Given the description of an element on the screen output the (x, y) to click on. 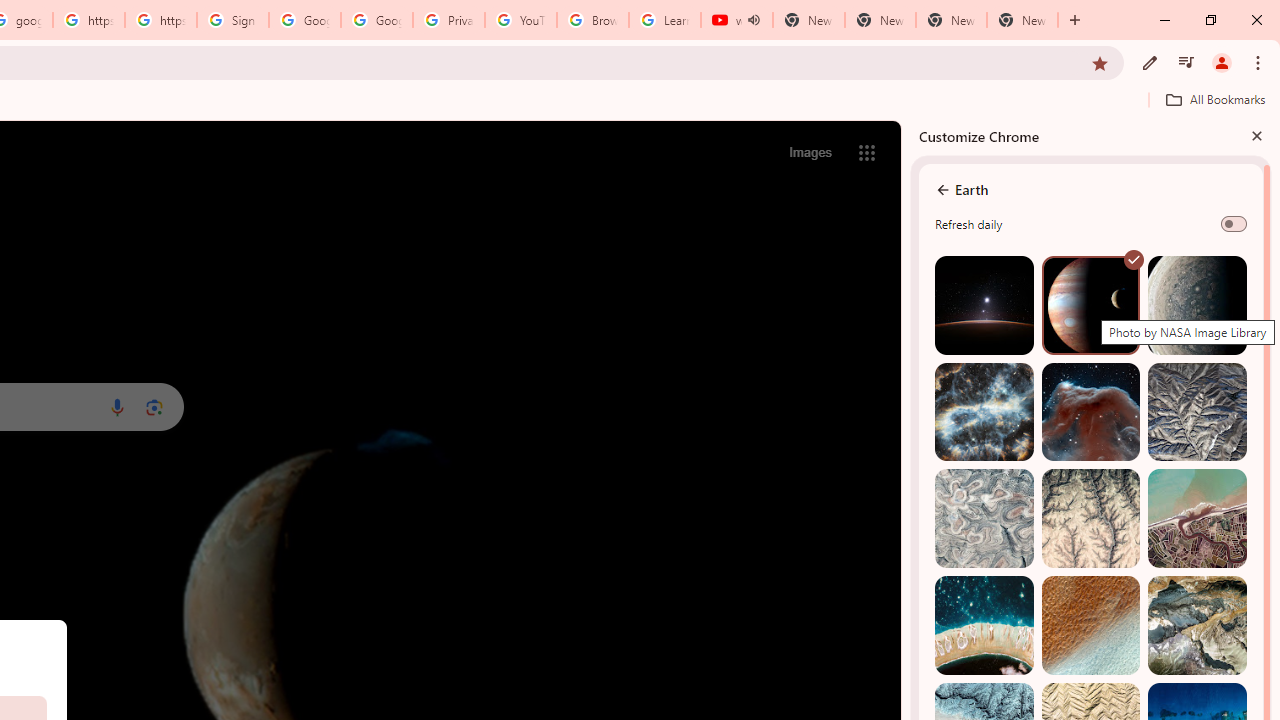
Sanaag, Somalia (1090, 518)
Browse Chrome as a guest - Computer - Google Chrome Help (592, 20)
Photo by NASA Image Library (1090, 412)
Mute tab (753, 20)
New Tab (1022, 20)
Zermatt, Wallis, Switzerland (1197, 625)
YouTube (520, 20)
Sign in - Google Accounts (232, 20)
Trarza, Mauritania (1090, 625)
